Given the description of an element on the screen output the (x, y) to click on. 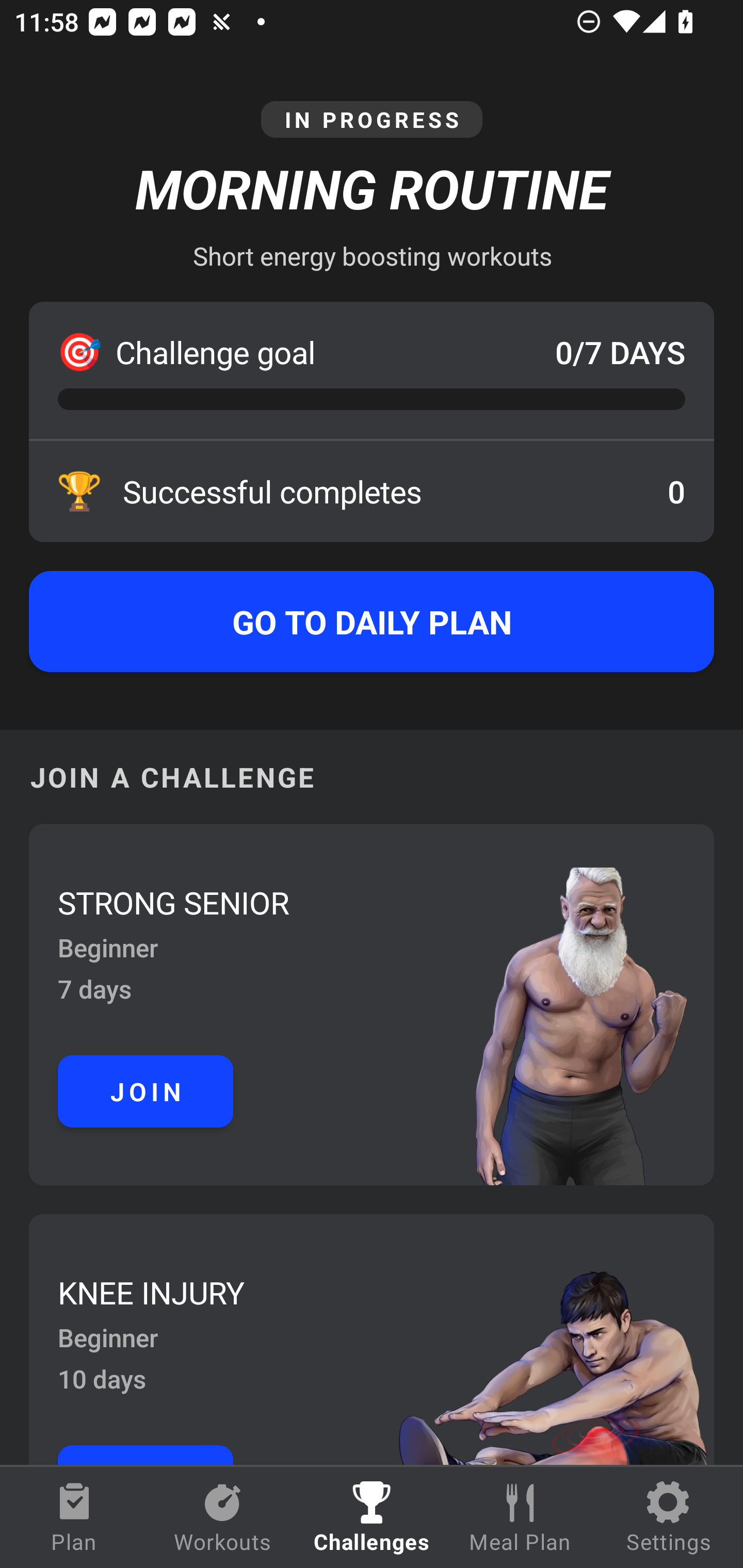
GO TO DAILY PLAN (371, 621)
JOIN (145, 1091)
 Plan  (74, 1517)
 Workouts  (222, 1517)
 Meal Plan  (519, 1517)
 Settings  (668, 1517)
